Given the description of an element on the screen output the (x, y) to click on. 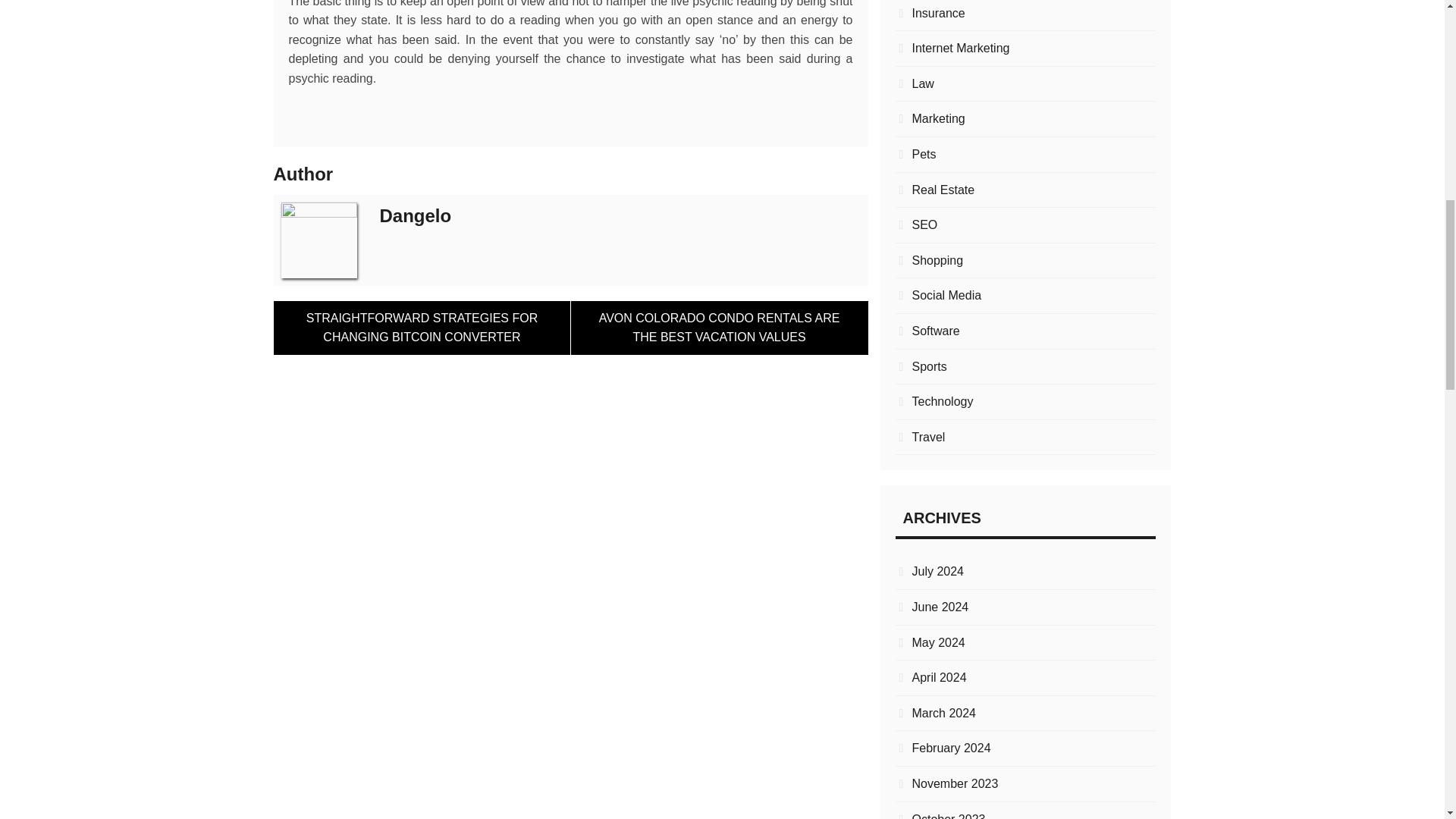
Insurance (1025, 13)
Real Estate (1025, 189)
Sports (1025, 366)
Social Media (1025, 295)
Pets (1025, 154)
Internet Marketing (1025, 48)
Shopping (1025, 260)
AVON COLORADO CONDO RENTALS ARE THE BEST VACATION VALUES (718, 327)
Law (1025, 84)
SEO (1025, 225)
Marketing (1025, 118)
Software (1025, 331)
STRAIGHTFORWARD STRATEGIES FOR CHANGING BITCOIN CONVERTER (421, 327)
